Given the description of an element on the screen output the (x, y) to click on. 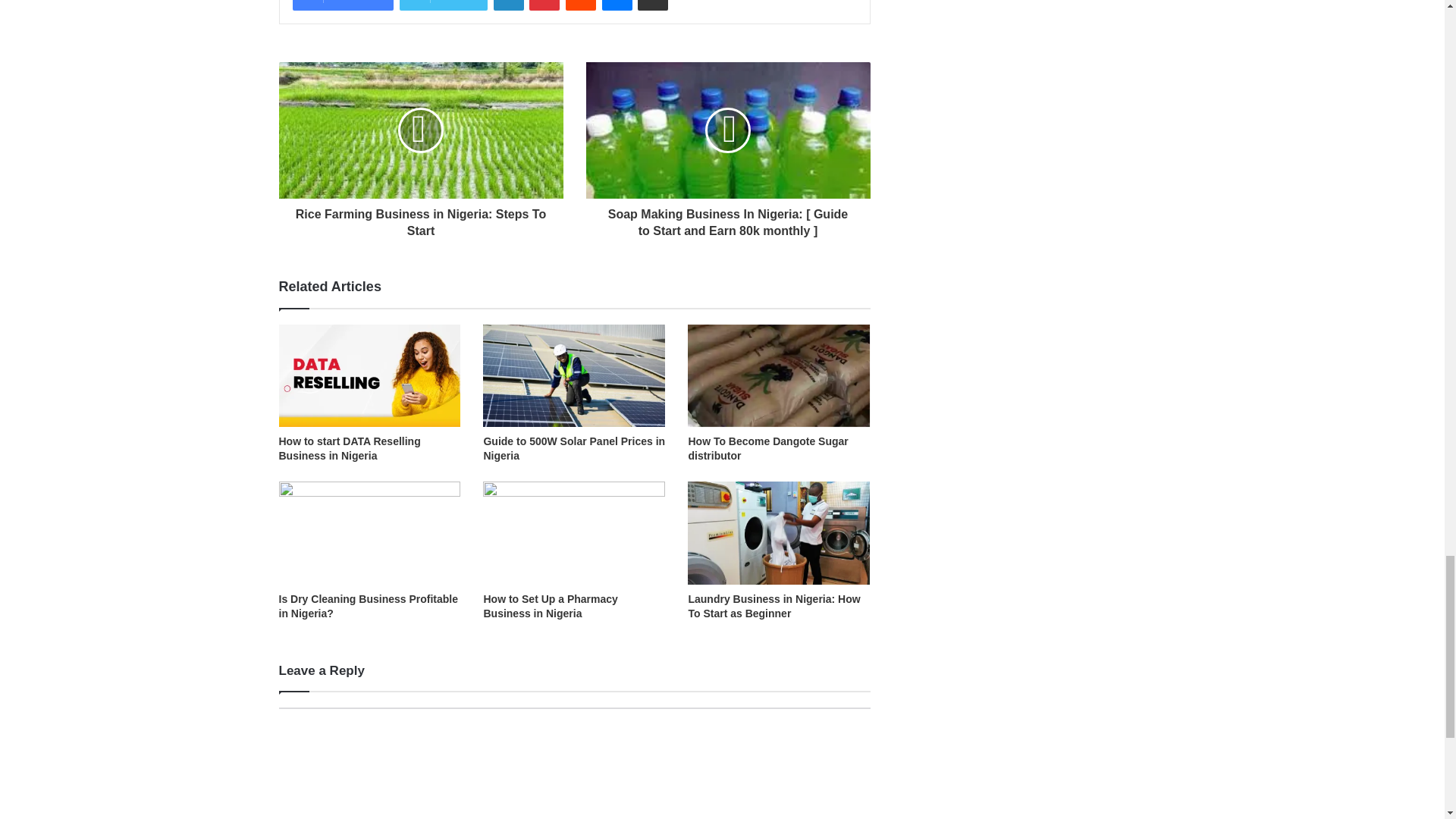
Pinterest (544, 5)
Twitter (442, 5)
Reddit (580, 5)
Facebook (343, 5)
LinkedIn (508, 5)
